Given the description of an element on the screen output the (x, y) to click on. 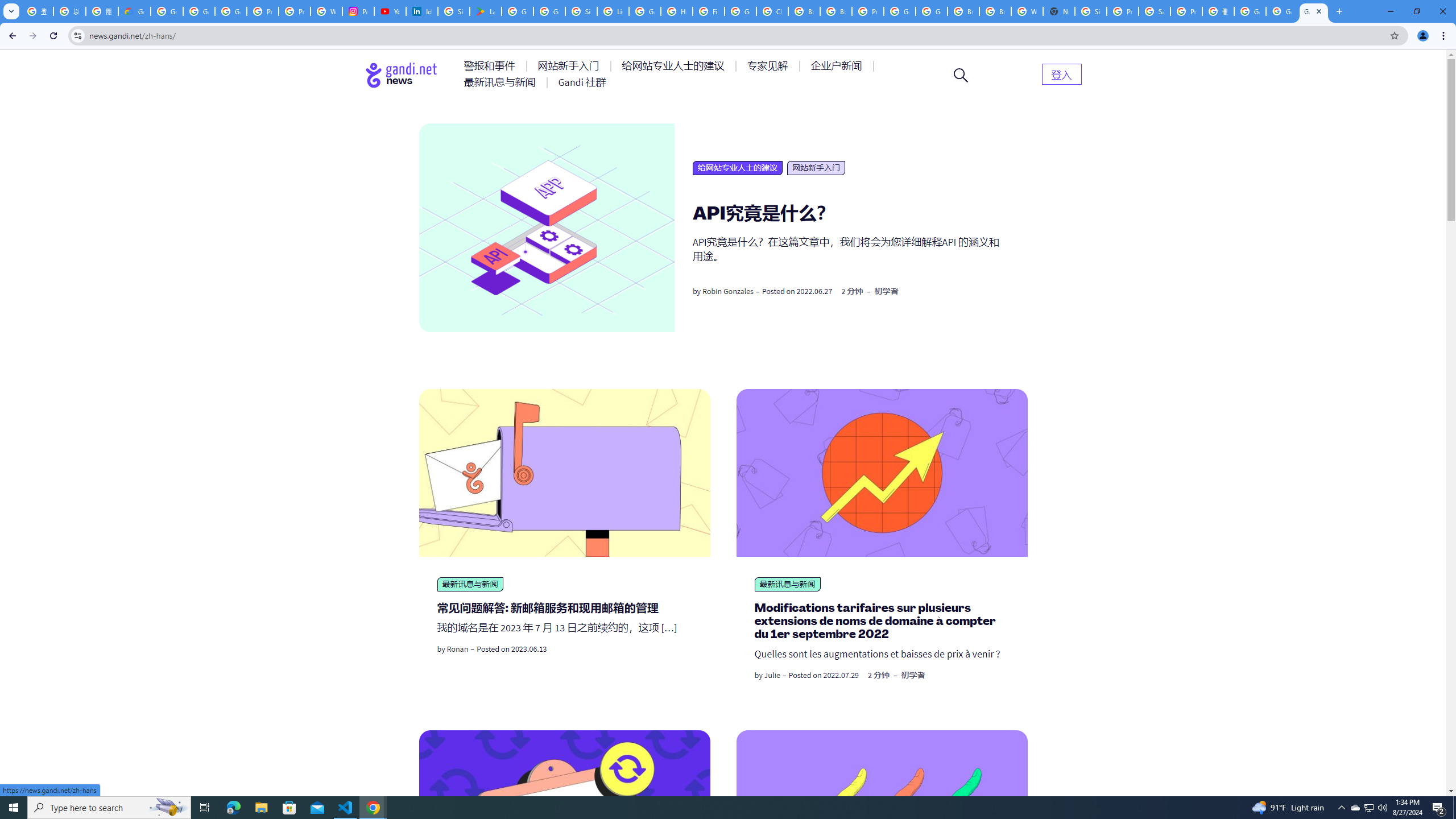
Sign in - Google Accounts (453, 11)
Privacy Help Center - Policies Help (294, 11)
Google Workspace - Specific Terms (549, 11)
AutomationID: menu-item-77762 (570, 65)
